Given the description of an element on the screen output the (x, y) to click on. 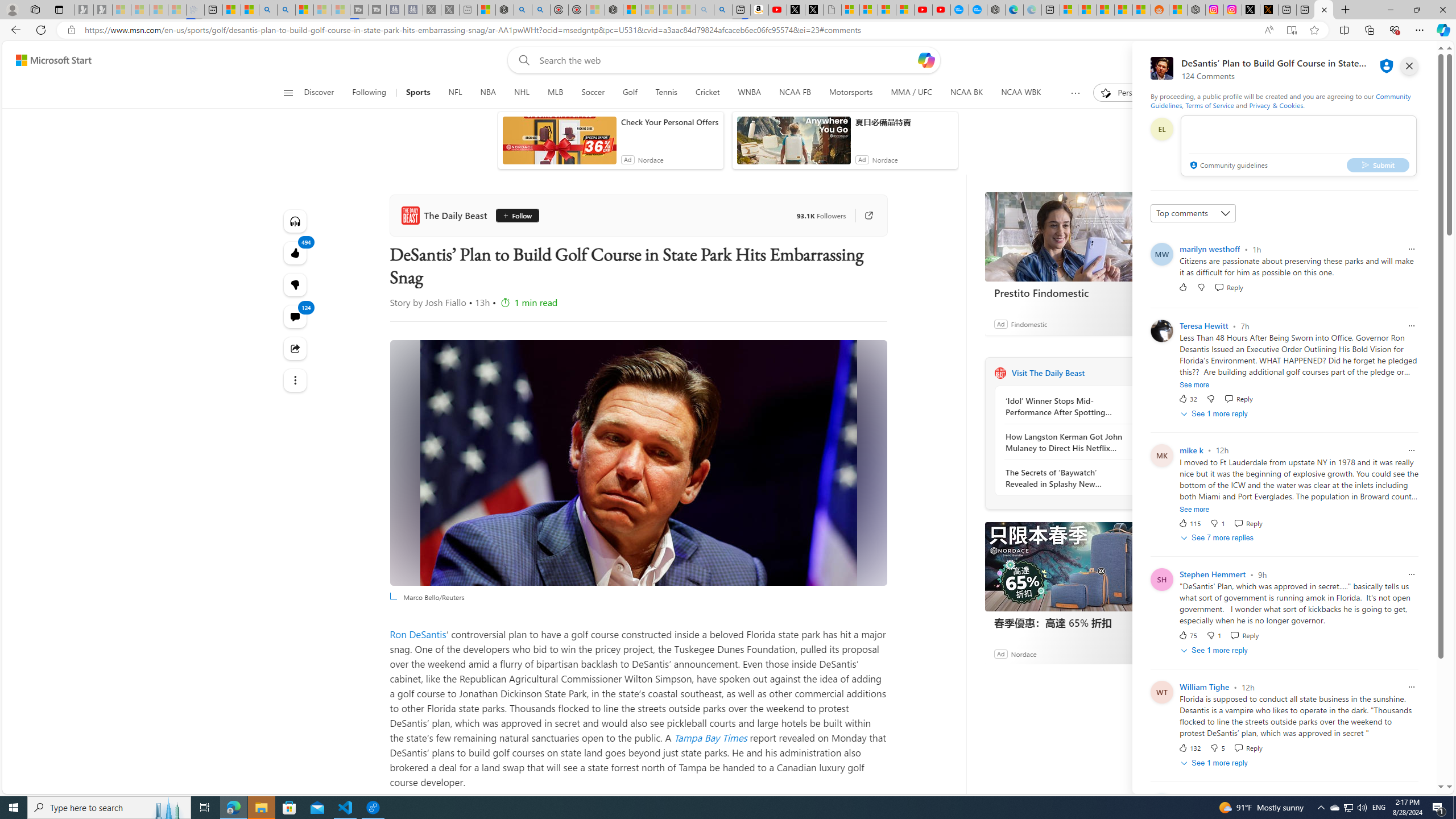
Privacy & Cookies (1276, 104)
Web search (520, 60)
Microsoft account | Microsoft Account Privacy Settings (1069, 9)
New tab - Sleeping (467, 9)
Day 1: Arriving in Yemen (surreal to be here) - YouTube (778, 9)
NHL (521, 92)
App bar (728, 29)
amazon - Search - Sleeping (705, 9)
New split screen (741, 9)
See more (1194, 508)
